Given the description of an element on the screen output the (x, y) to click on. 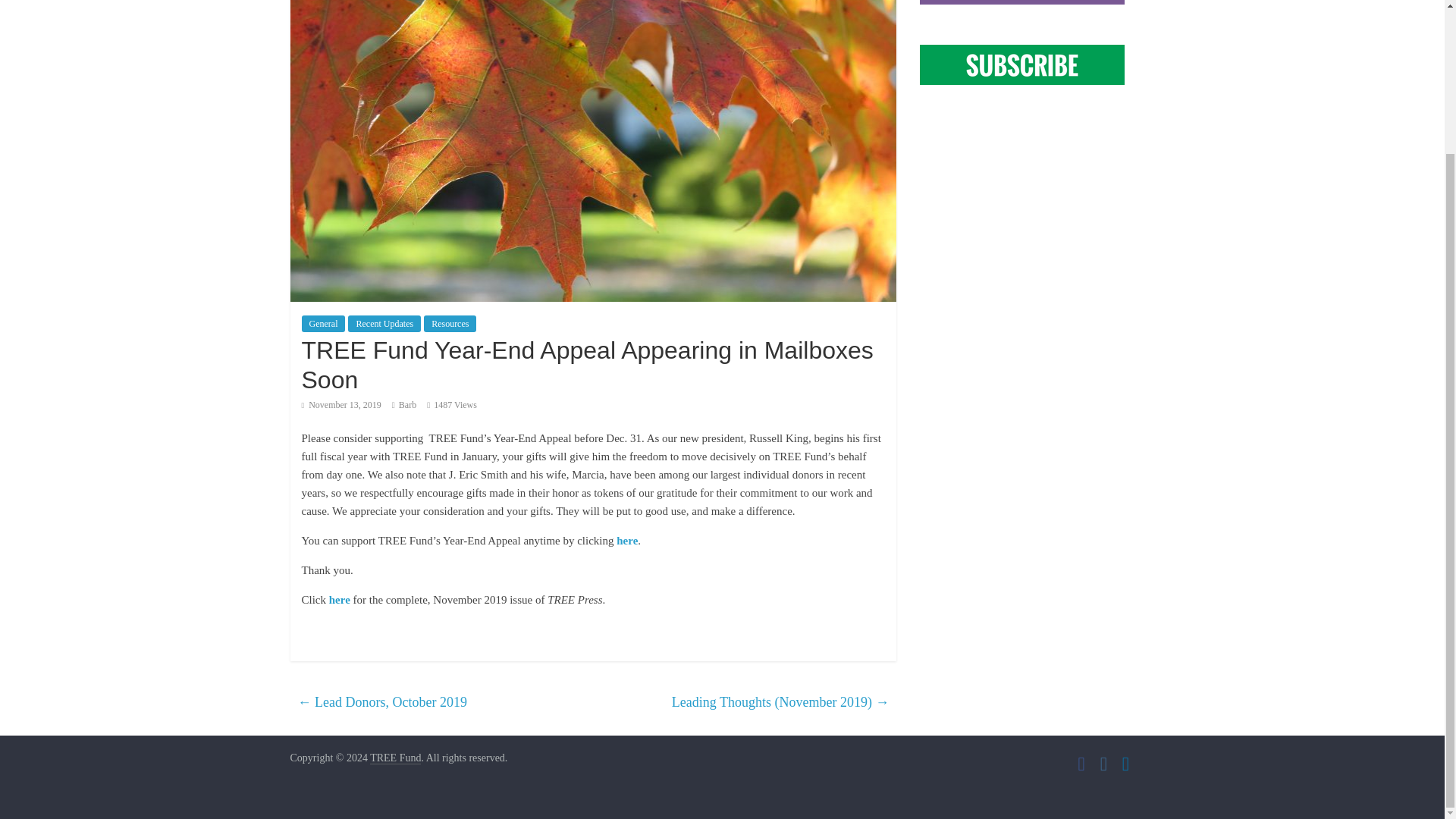
TREE Fund (394, 758)
7:14 pm (341, 404)
Barb (407, 404)
